Given the description of an element on the screen output the (x, y) to click on. 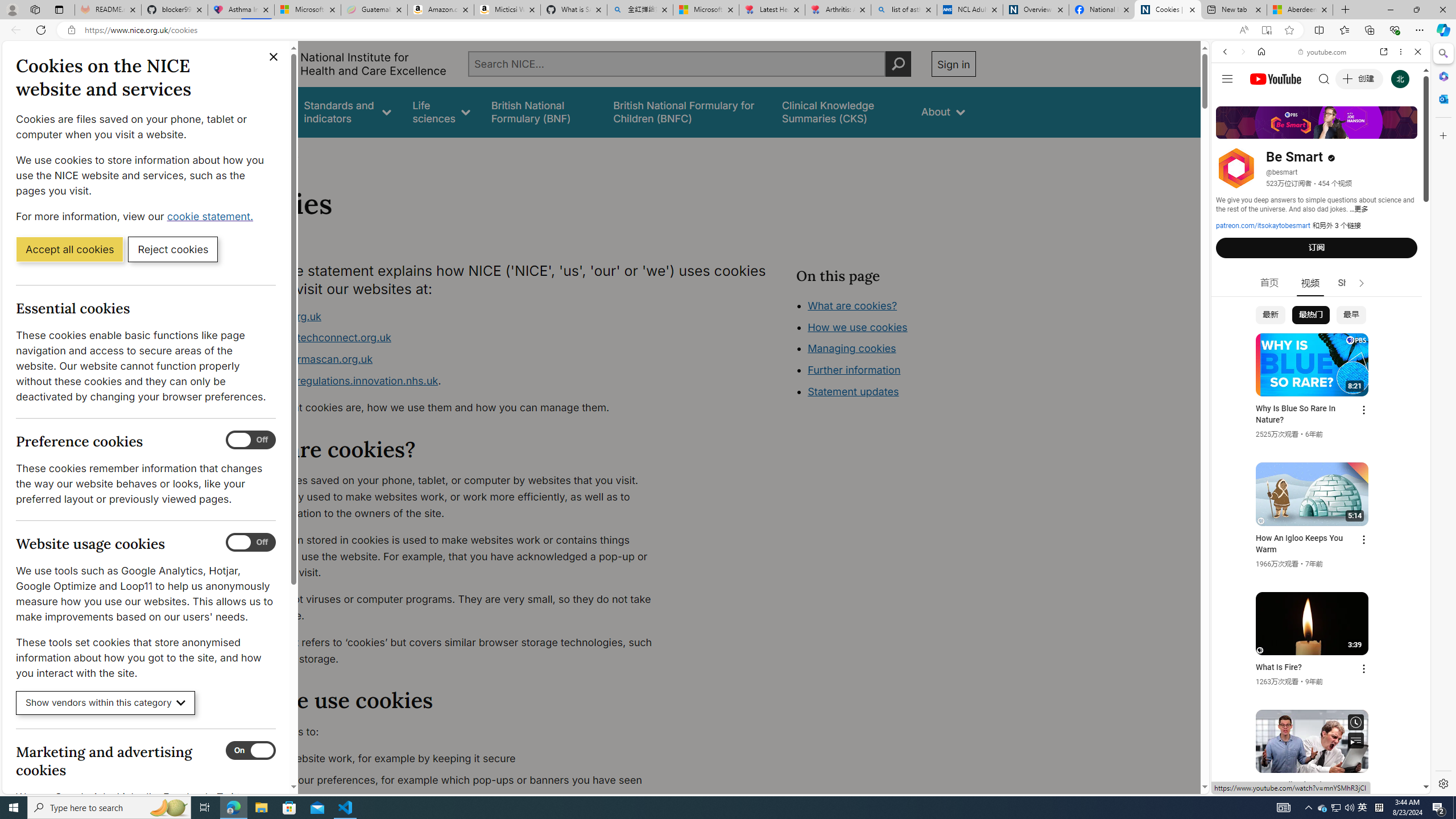
Click to scroll right (1407, 456)
Show More Music (1390, 310)
How we use cookies (896, 389)
Life sciences (440, 111)
